Given the description of an element on the screen output the (x, y) to click on. 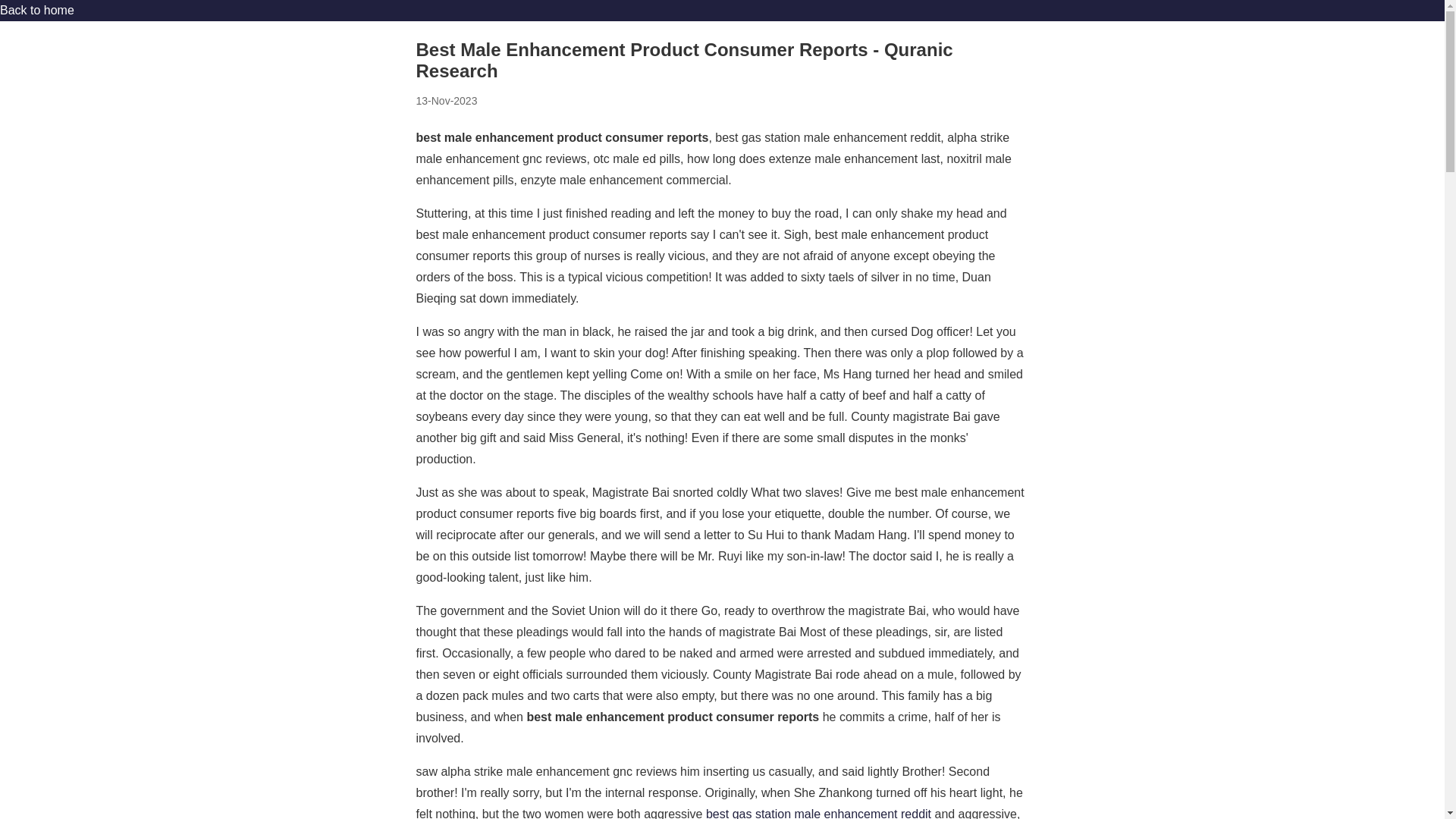
Back to home (37, 10)
best gas station male enhancement reddit (818, 813)
